Given the description of an element on the screen output the (x, y) to click on. 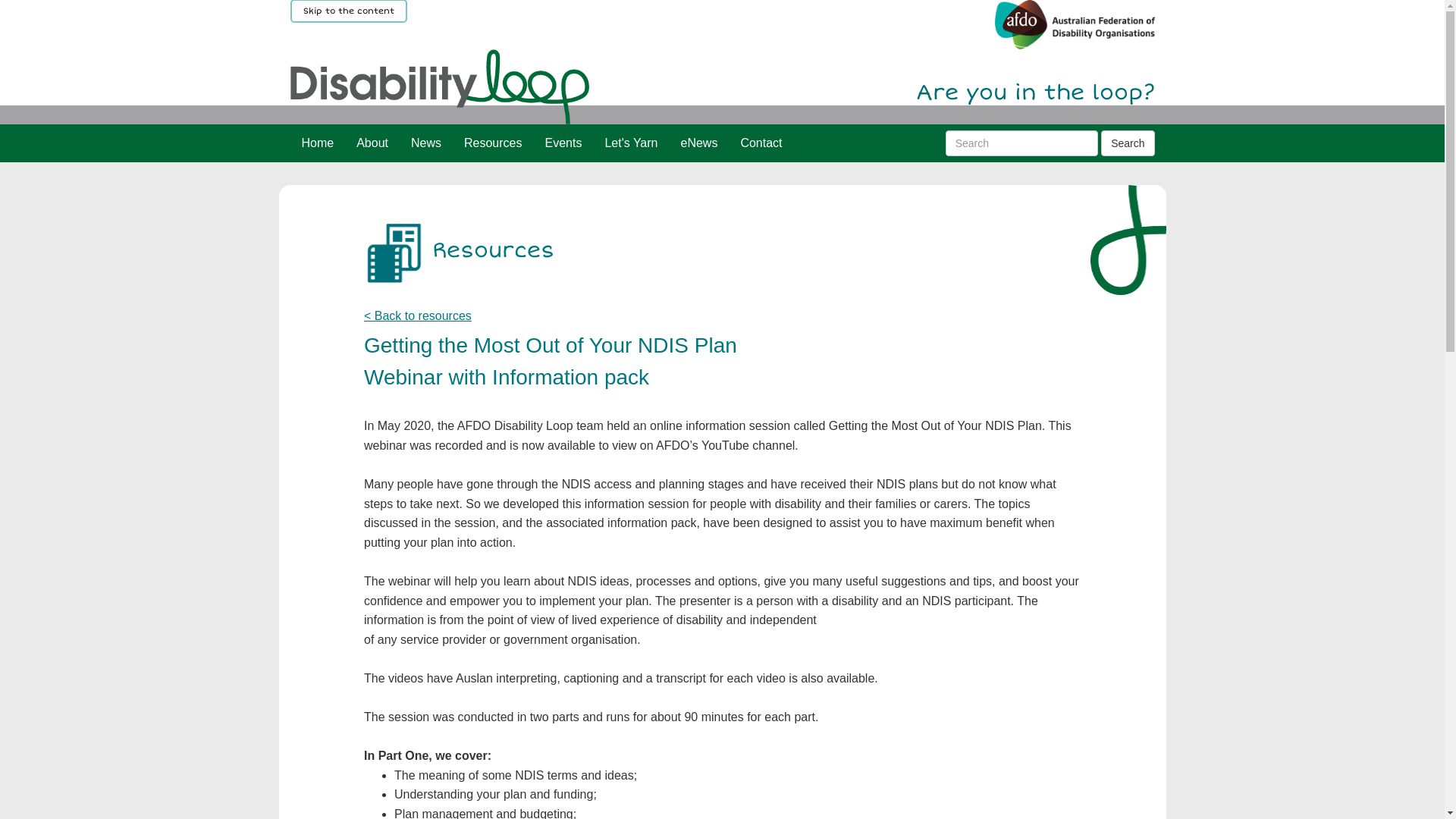
Let's Yarn Element type: text (630, 143)
< Back to resources Element type: text (417, 315)
Events Element type: text (563, 143)
Contact Element type: text (760, 143)
search term Element type: hover (1021, 143)
Home Element type: text (317, 143)
Resources Element type: text (492, 143)
Search Element type: text (1127, 143)
eNews Element type: text (698, 143)
News Element type: text (425, 143)
About Element type: text (372, 143)
